Given the description of an element on the screen output the (x, y) to click on. 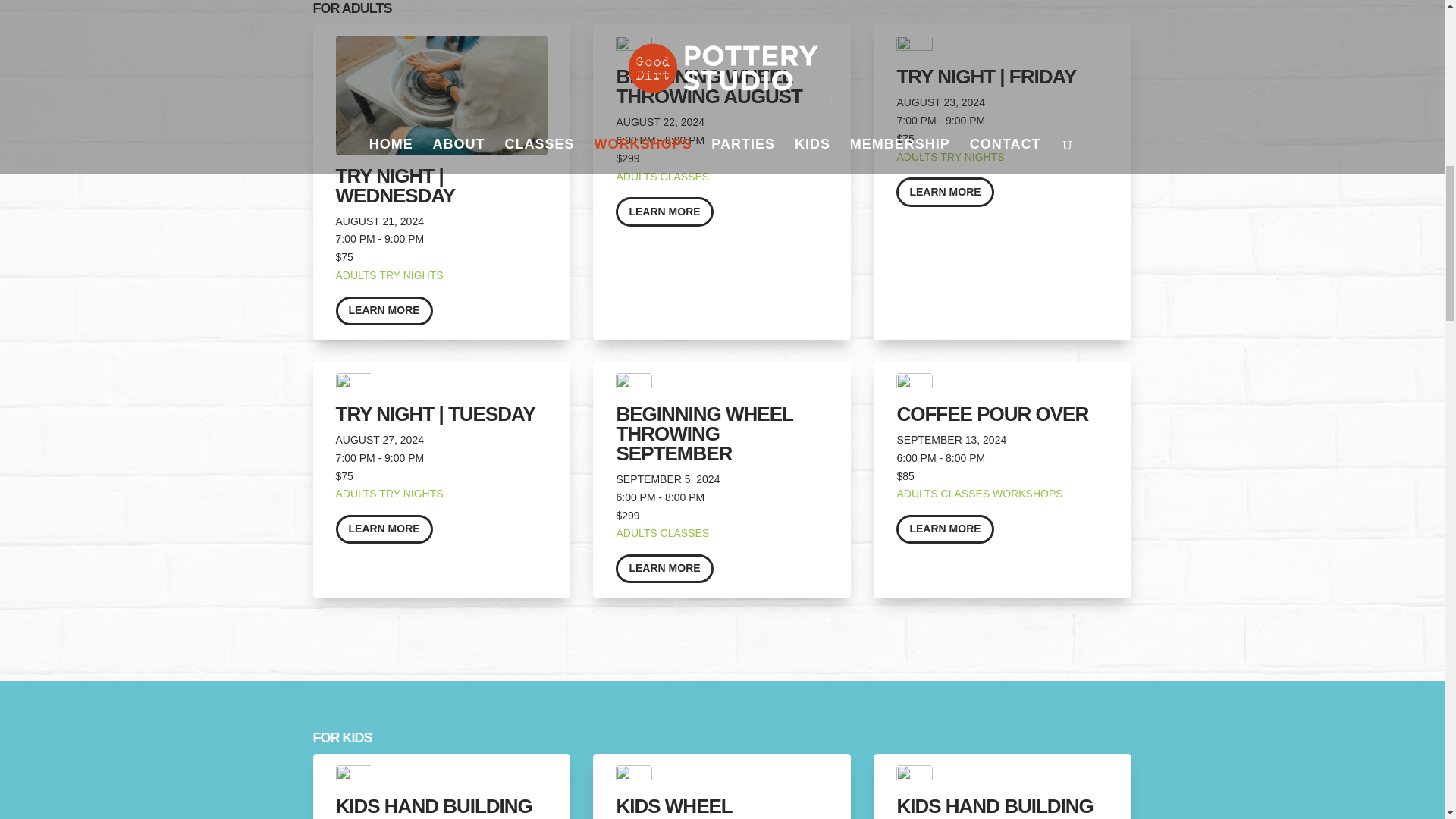
TRY NIGHTS (972, 156)
TRY NIGHTS (410, 275)
LEARN MORE (383, 529)
ADULTS (354, 493)
LEARN MORE (944, 191)
BEGINNING WHEEL THROWING AUGUST (708, 86)
LEARN MORE (664, 211)
TRY NIGHTS (410, 493)
ADULTS (354, 275)
ADULTS (916, 156)
